Given the description of an element on the screen output the (x, y) to click on. 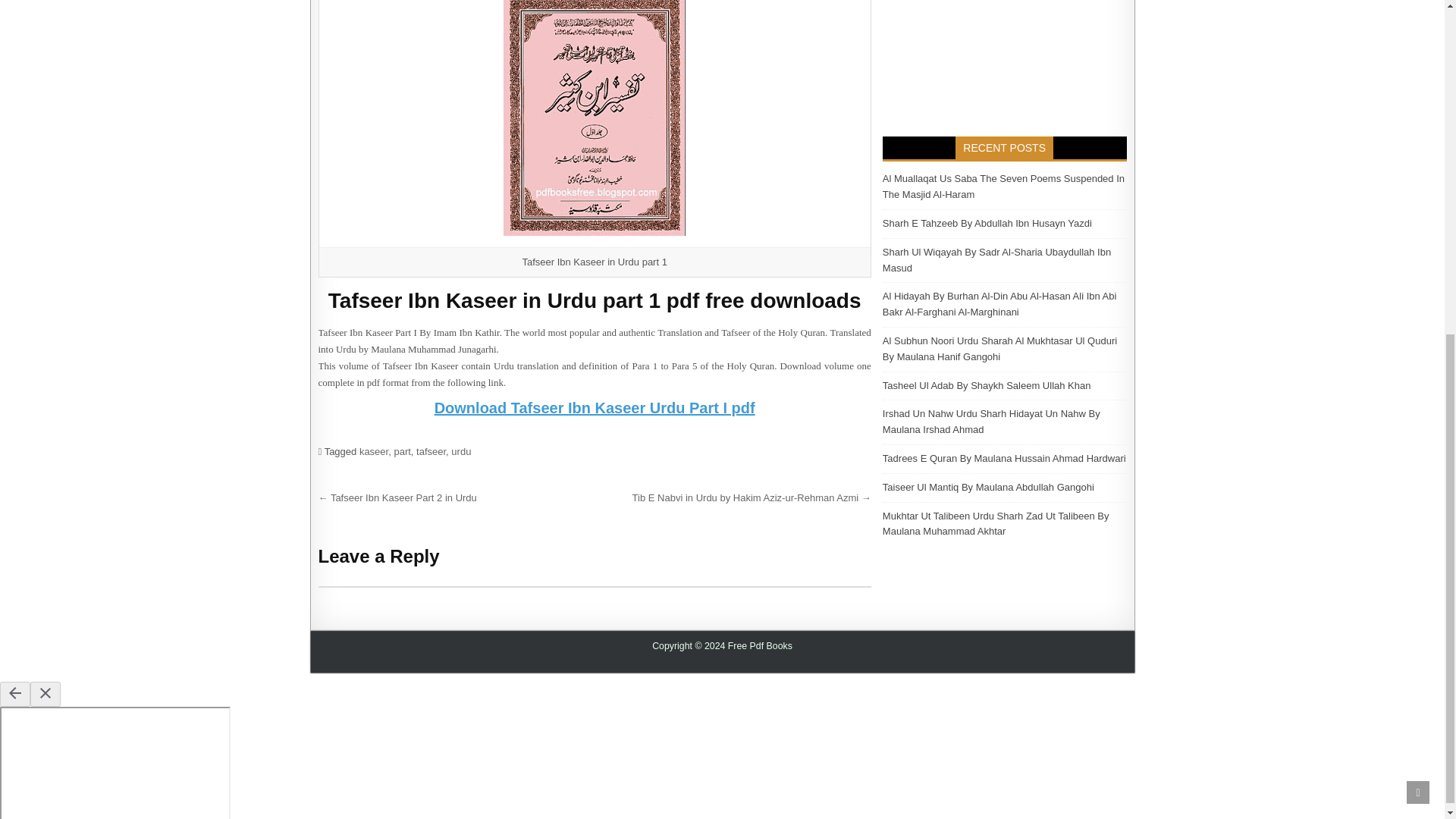
Scroll to Top (1417, 228)
urdu (460, 451)
Sharh Ul Wiqayah By Sadr Al-Sharia Ubaydullah Ibn Masud (996, 259)
kaseer (373, 451)
Advertisement (1004, 57)
tafseer (430, 451)
Scroll to Top (1417, 228)
Download Tafseer Ibn Kaseer Urdu Part I pdf (594, 407)
Sharh E Tahzeeb By Abdullah Ibn Husayn Yazdi (987, 223)
part (401, 451)
